Given the description of an element on the screen output the (x, y) to click on. 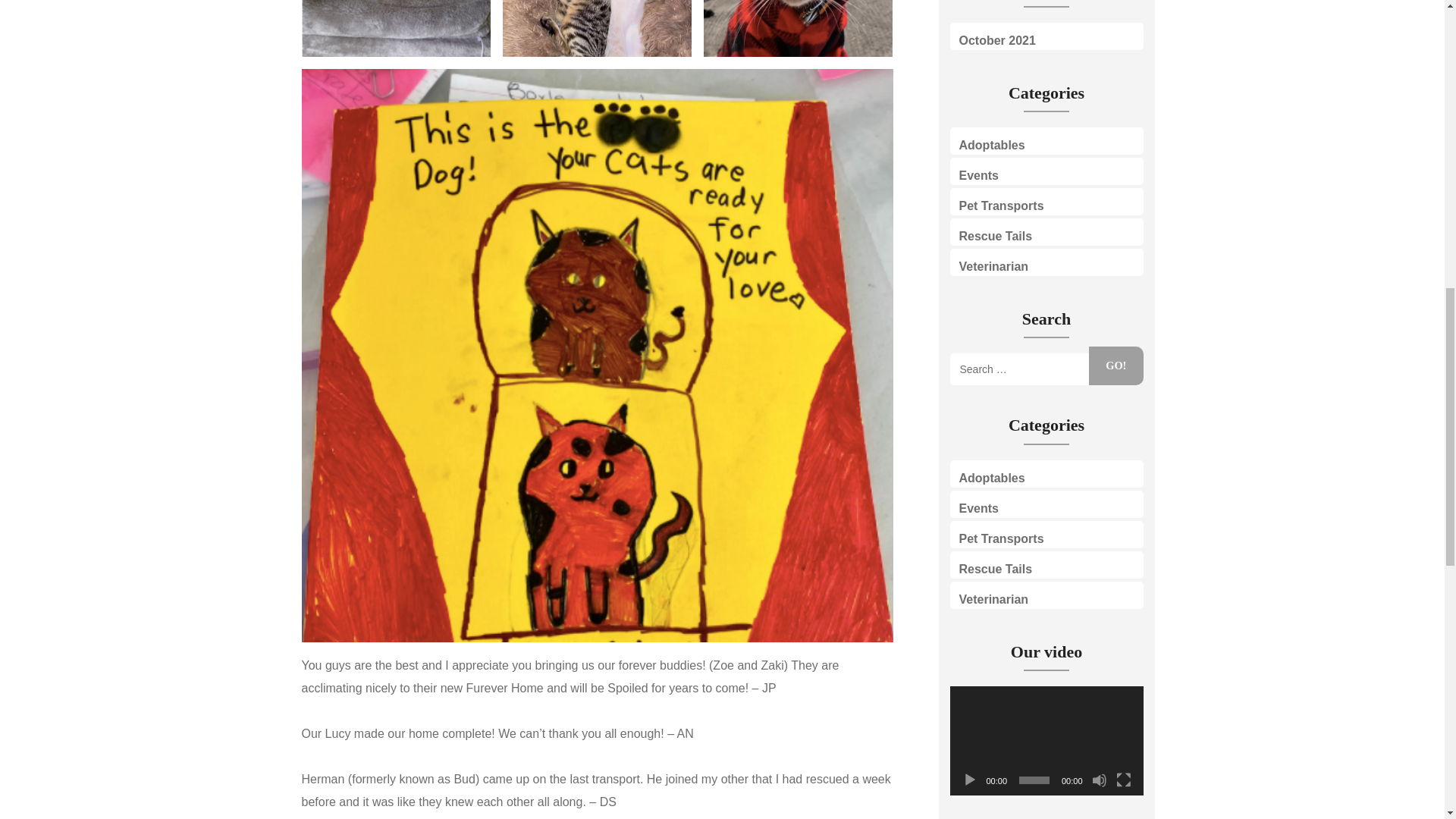
Mute (1099, 780)
GO! (1115, 365)
Events (977, 508)
Pet Transports (1000, 205)
Adoptables (991, 477)
Play (968, 780)
Veterinarian (992, 599)
Rescue Tails (995, 236)
Pet Transports (1000, 538)
Events (977, 174)
October 2021 (996, 40)
Rescue Tails (995, 568)
Veterinarian (992, 266)
Fullscreen (1123, 780)
Adoptables (991, 144)
